Given the description of an element on the screen output the (x, y) to click on. 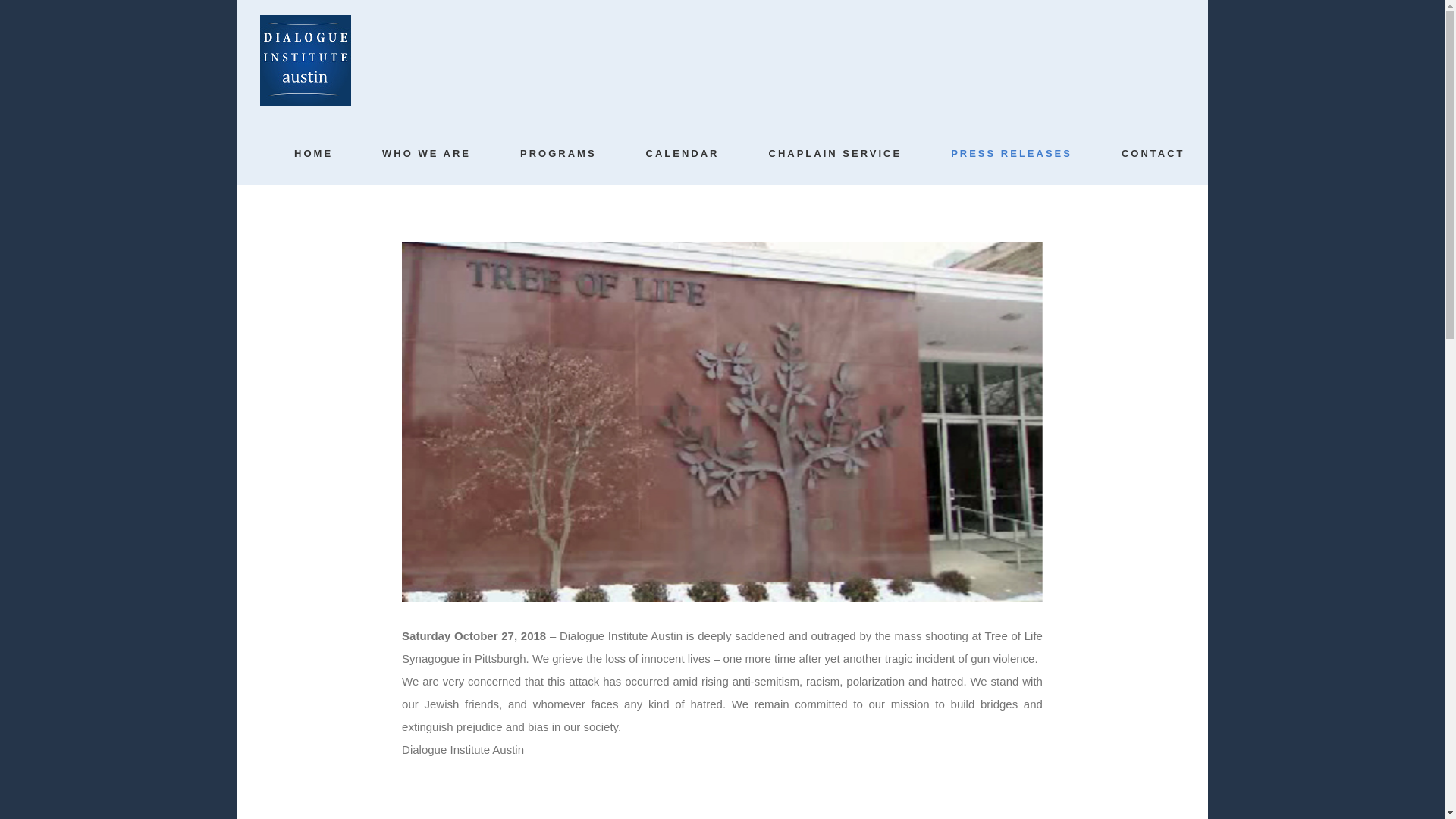
CHAPLAIN SERVICE (835, 153)
CALENDAR (682, 153)
CONTACT (1153, 153)
PRESS RELEASES (1010, 153)
PROGRAMS (557, 153)
WHO WE ARE (425, 153)
